Given the description of an element on the screen output the (x, y) to click on. 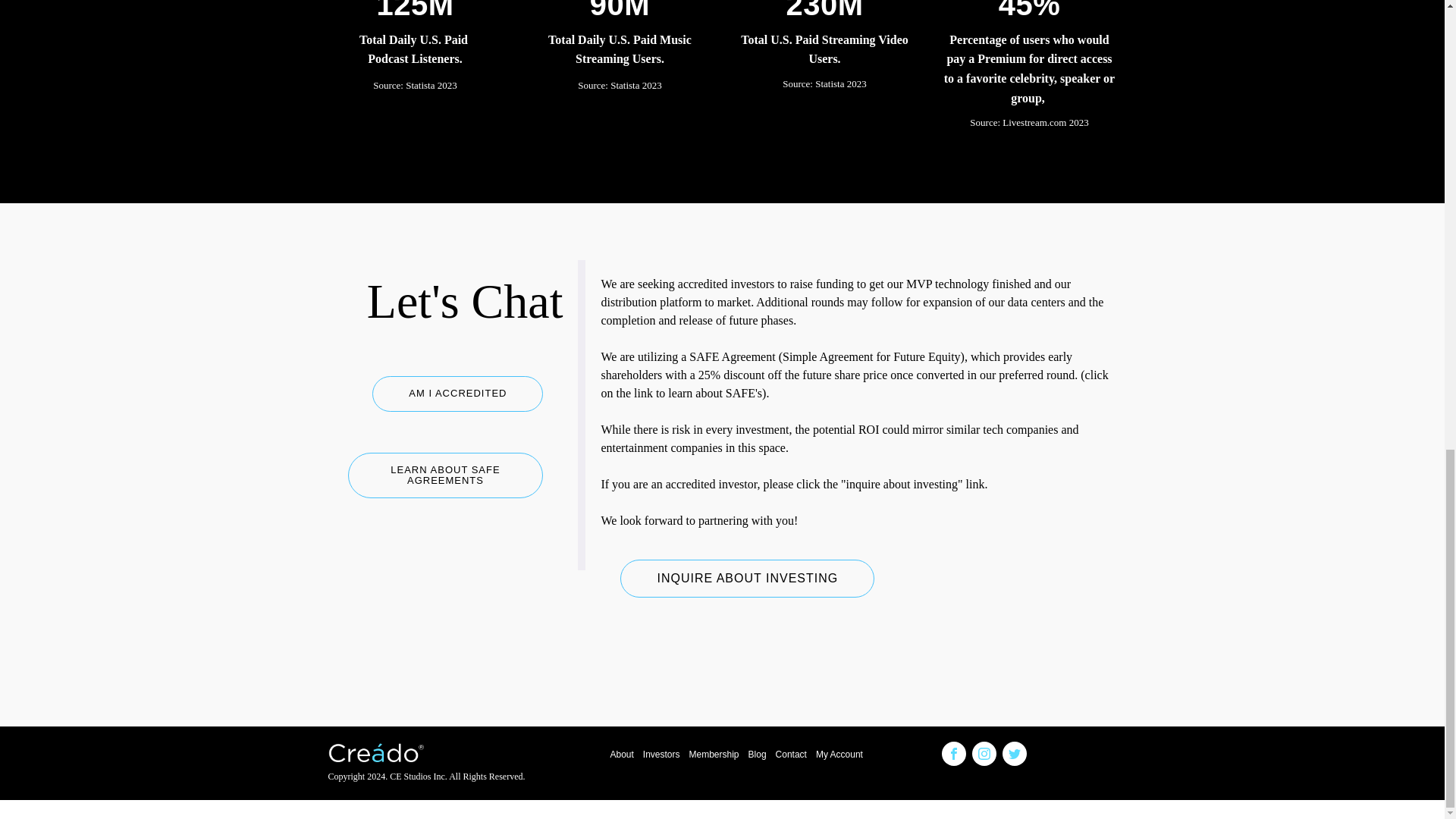
INQUIRE ABOUT INVESTING (747, 578)
Blog (753, 754)
Investors (656, 754)
About (616, 754)
Contact (786, 754)
LEARN ABOUT SAFE AGREEMENTS (445, 475)
My Account (834, 754)
AM I ACCREDITED (457, 393)
Membership (708, 754)
